Given the description of an element on the screen output the (x, y) to click on. 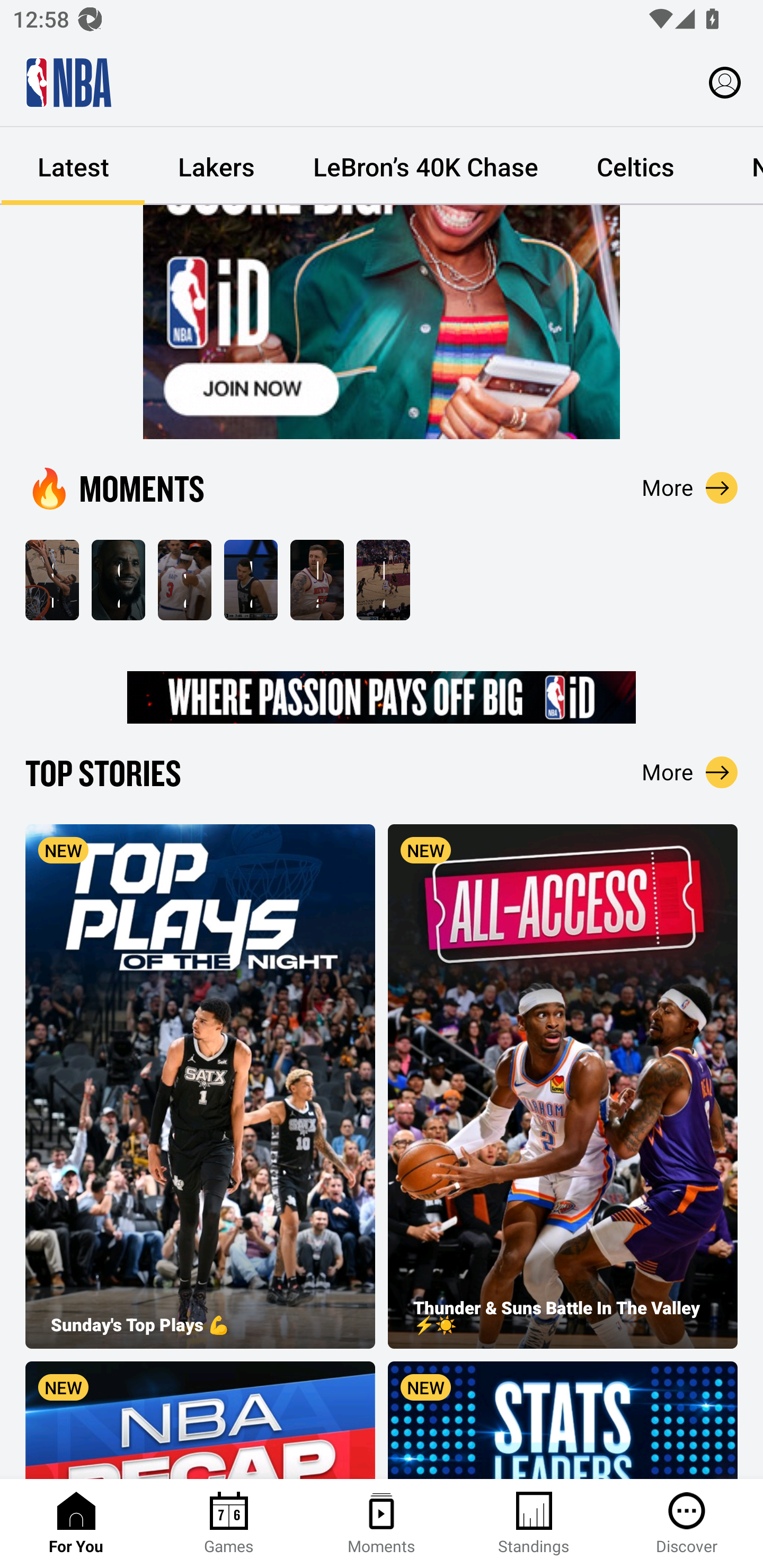
Profile (724, 81)
Lakers (215, 166)
LeBron’s 40K Chase (425, 166)
Celtics (634, 166)
More (689, 487)
Sunday's Top Plays In 30 Seconds ⏱ (51, 579)
Hartenstein Drops The Hammer 🔨 (317, 579)
More (689, 771)
NEW Sunday's Top Plays 💪 (200, 1086)
NEW Thunder & Suns Battle In The Valley ⚡☀ (562, 1086)
Games (228, 1523)
Moments (381, 1523)
Standings (533, 1523)
Discover (686, 1523)
